Given the description of an element on the screen output the (x, y) to click on. 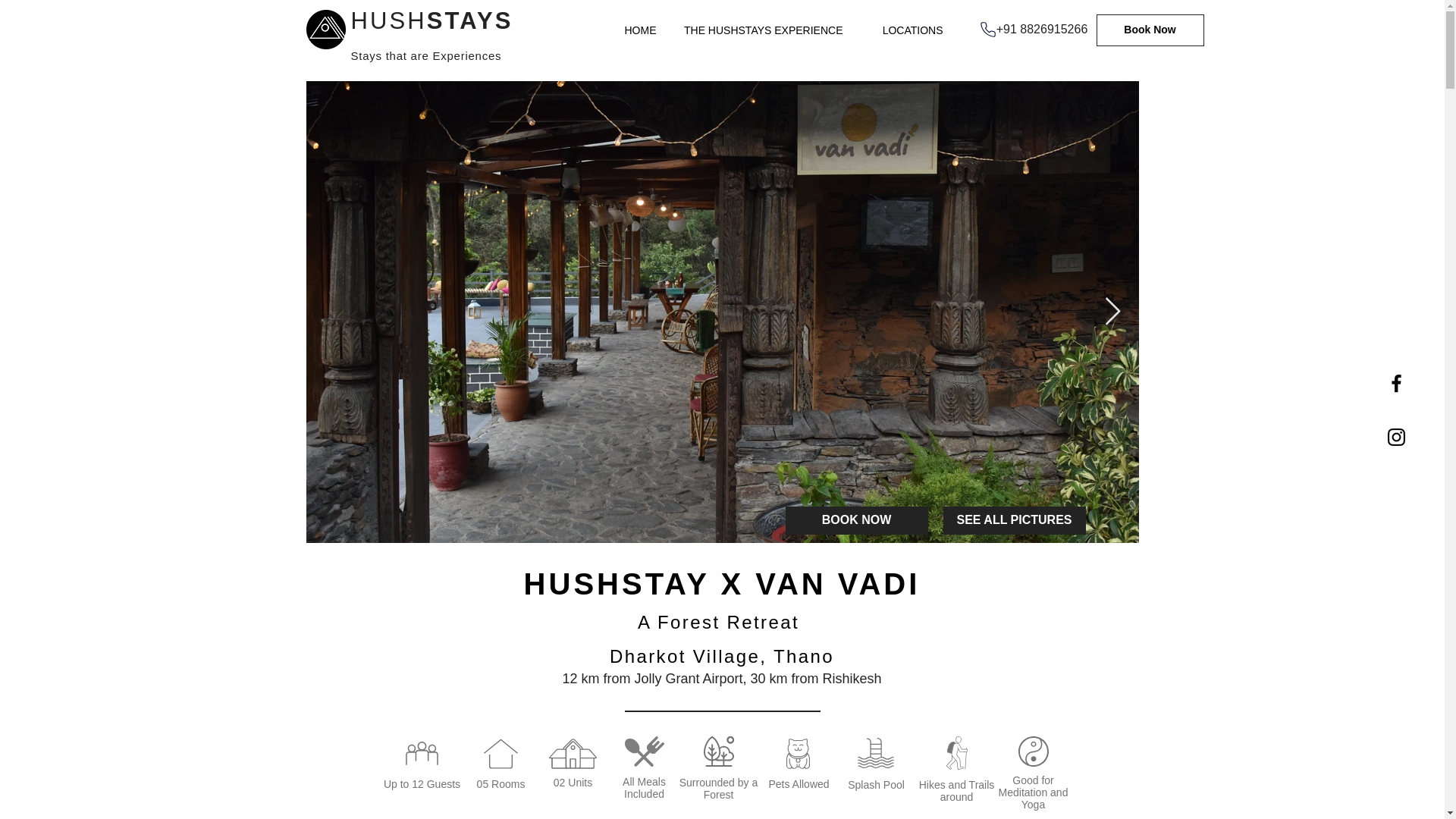
THE HUSHSTAYS EXPERIENCE (759, 29)
Book Now (1150, 29)
HOME (630, 29)
HUSHSTAYS (431, 20)
Stays that are Experiences (425, 55)
